Given the description of an element on the screen output the (x, y) to click on. 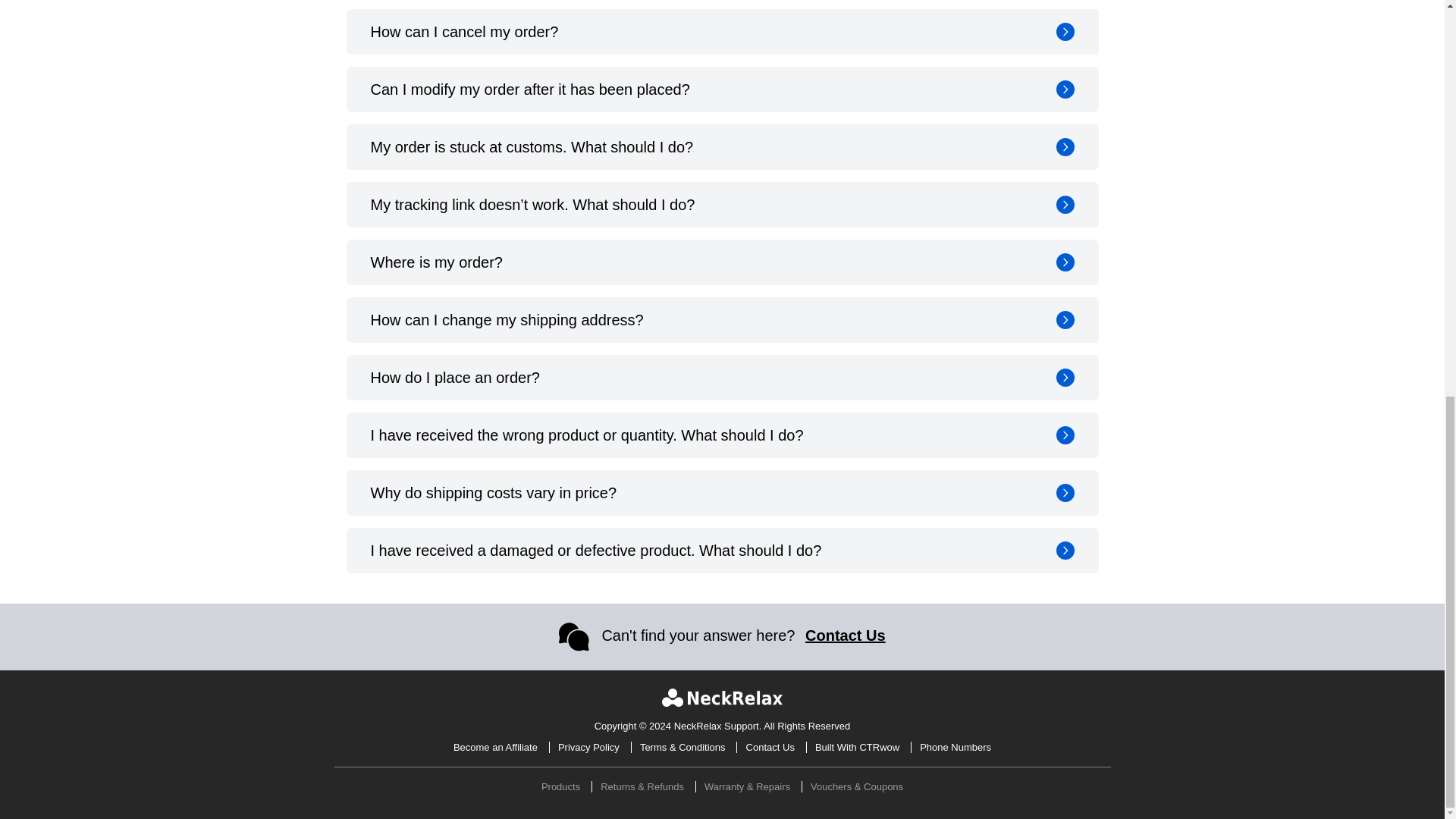
Privacy Policy (587, 747)
Built With CTRwow (857, 747)
Can I modify my order after it has been placed? (721, 89)
Become an Affiliate (495, 747)
Where is my order? (721, 262)
Contact Us (769, 747)
My order is stuck at customs. What should I do?   (721, 146)
Phone Numbers (954, 747)
How can I change my shipping address? (721, 320)
